Given the description of an element on the screen output the (x, y) to click on. 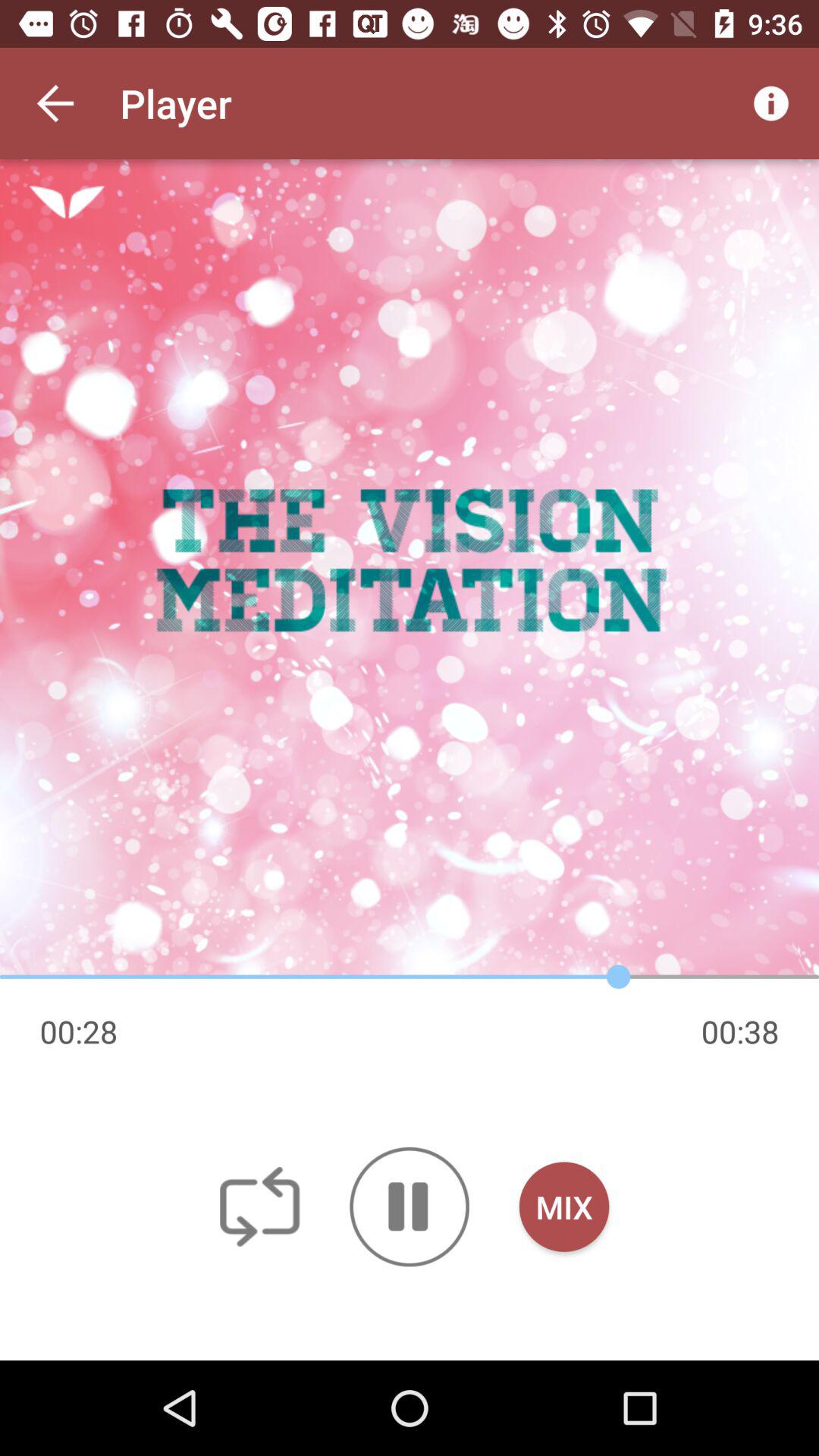
open icon above 00:00 icon (409, 568)
